Given the description of an element on the screen output the (x, y) to click on. 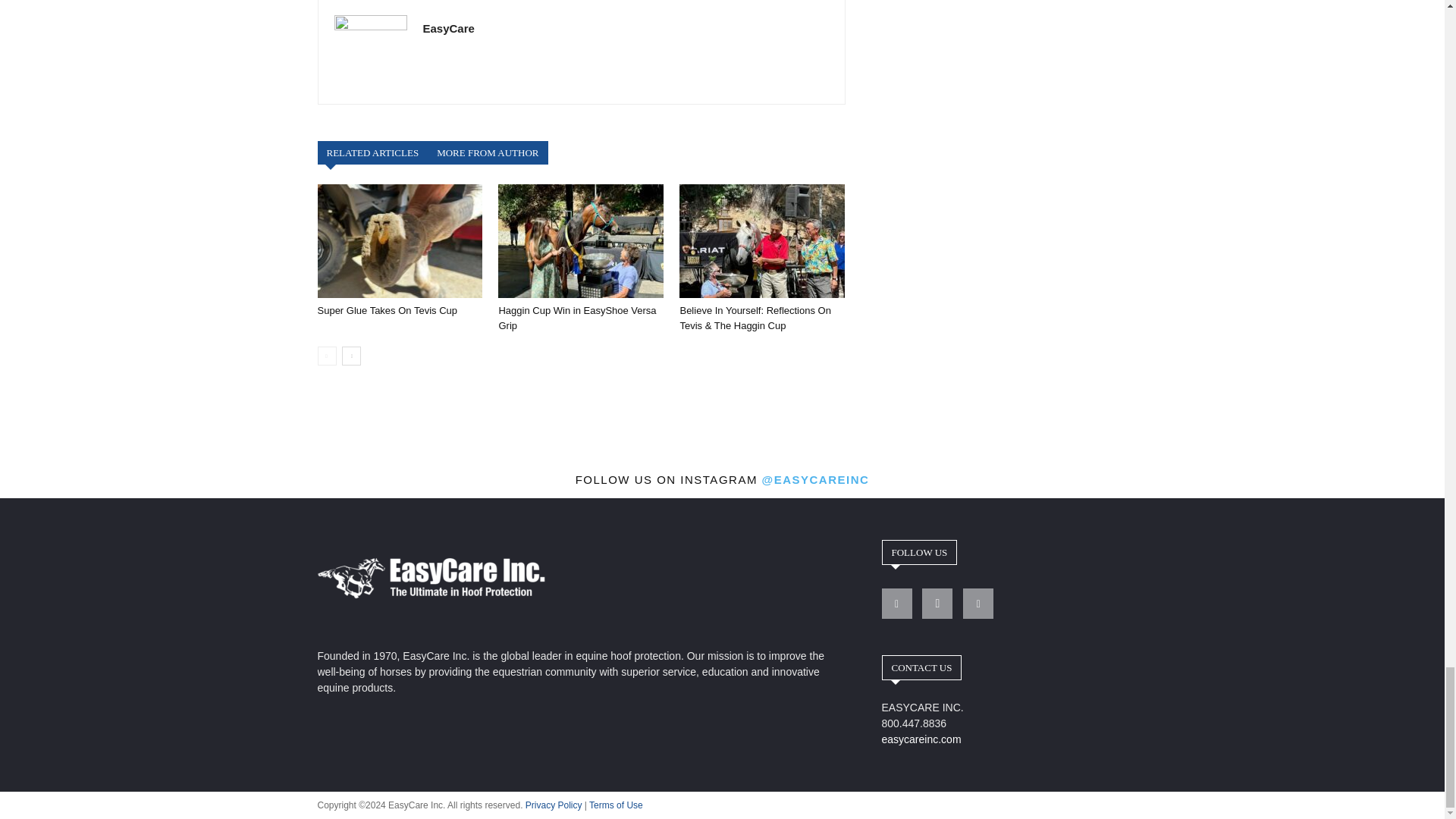
Super Glue Takes On Tevis Cup (399, 241)
